Given the description of an element on the screen output the (x, y) to click on. 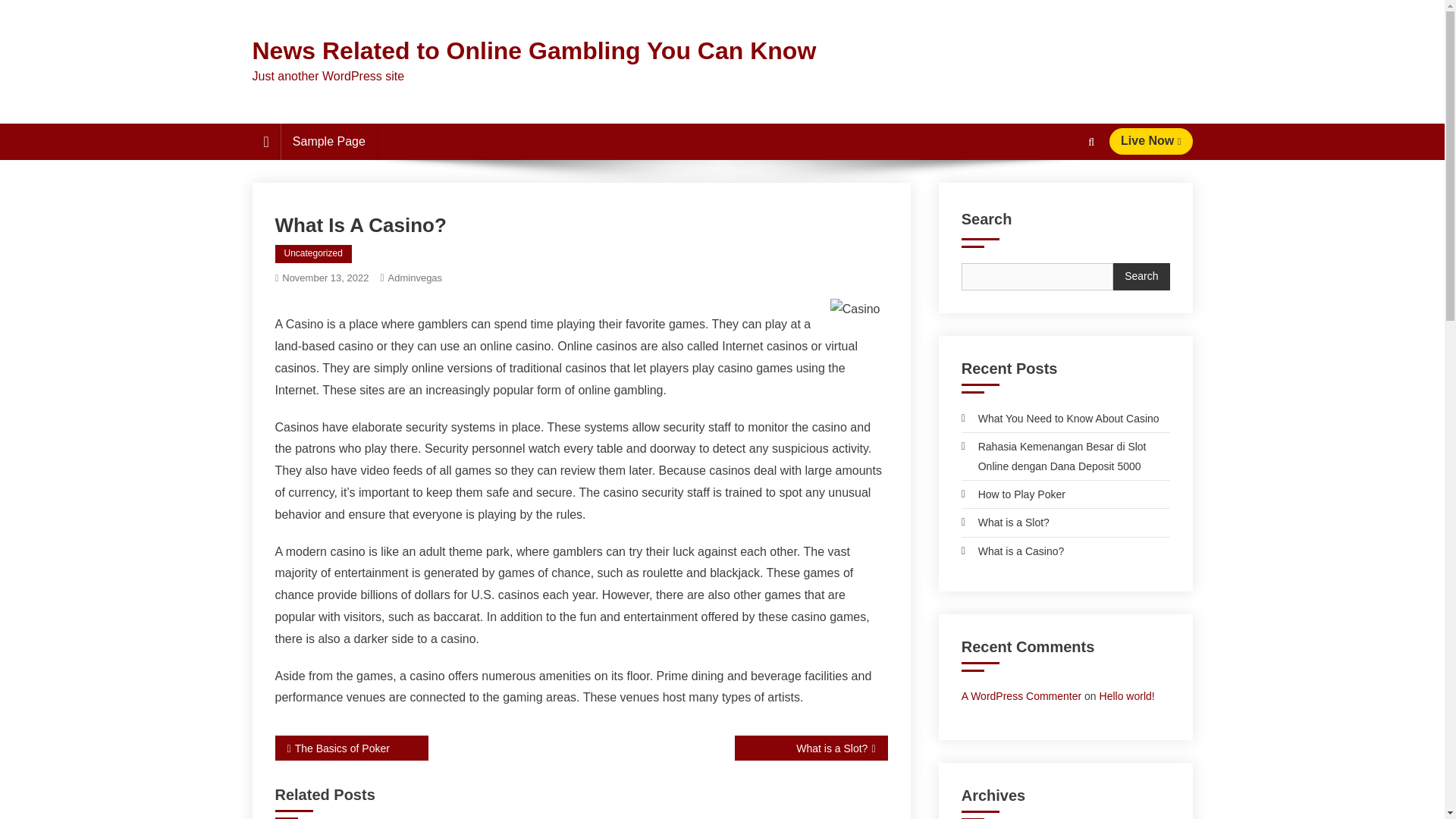
Live Now (1150, 140)
Uncategorized (312, 253)
The Basics of Poker (351, 747)
Adminvegas (415, 277)
What is a Slot? (1004, 522)
Sample Page (329, 141)
What is a Casino? (1012, 551)
What You Need to Know About Casino (1059, 418)
Hello world! (1126, 695)
November 13, 2022 (325, 277)
Search (1141, 276)
A WordPress Commenter (1020, 695)
What is a Slot? (809, 747)
How to Play Poker (1012, 494)
